Given the description of an element on the screen output the (x, y) to click on. 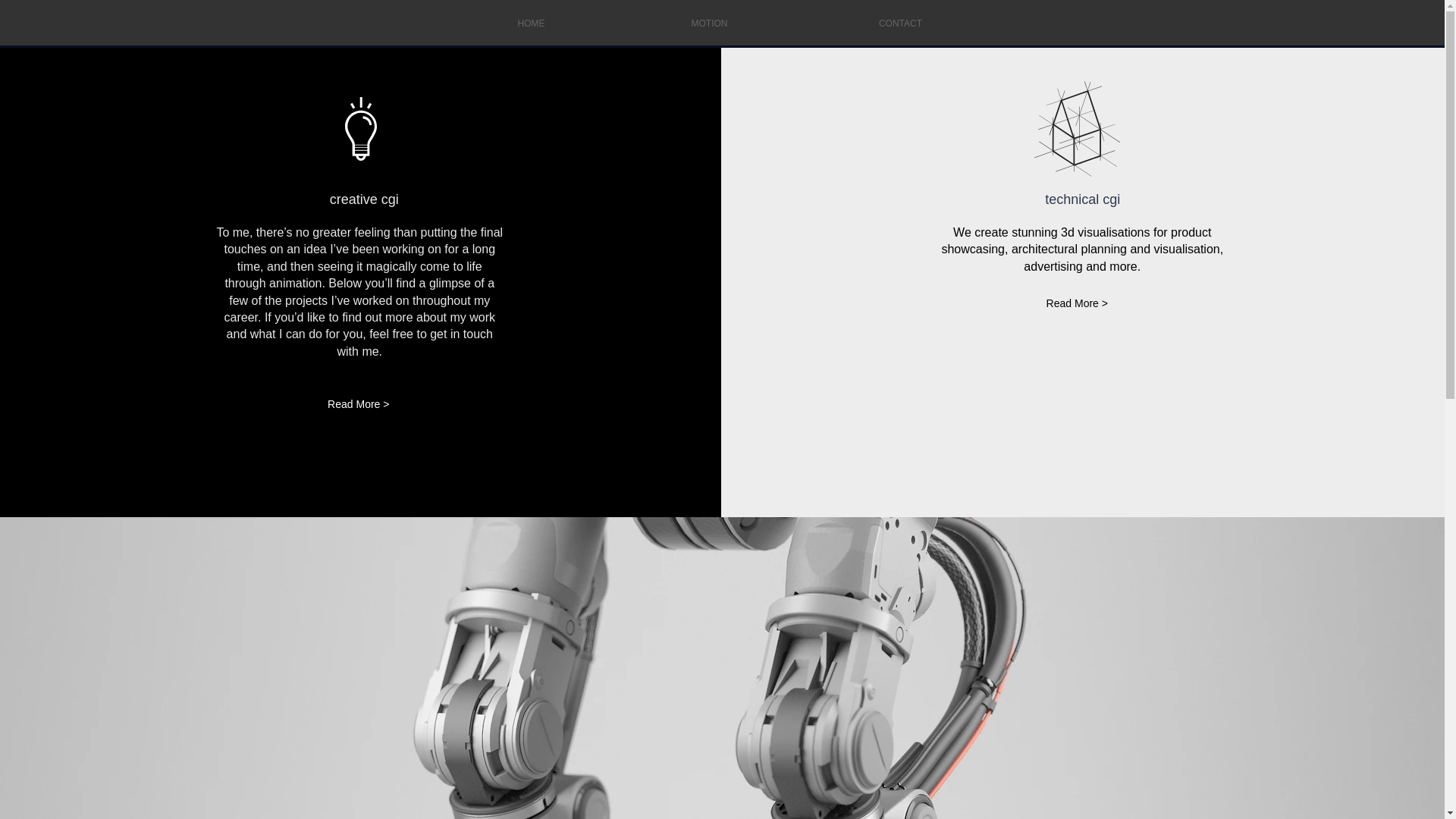
CONTACT (899, 23)
HOME (530, 23)
MOTION (708, 23)
